Given the description of an element on the screen output the (x, y) to click on. 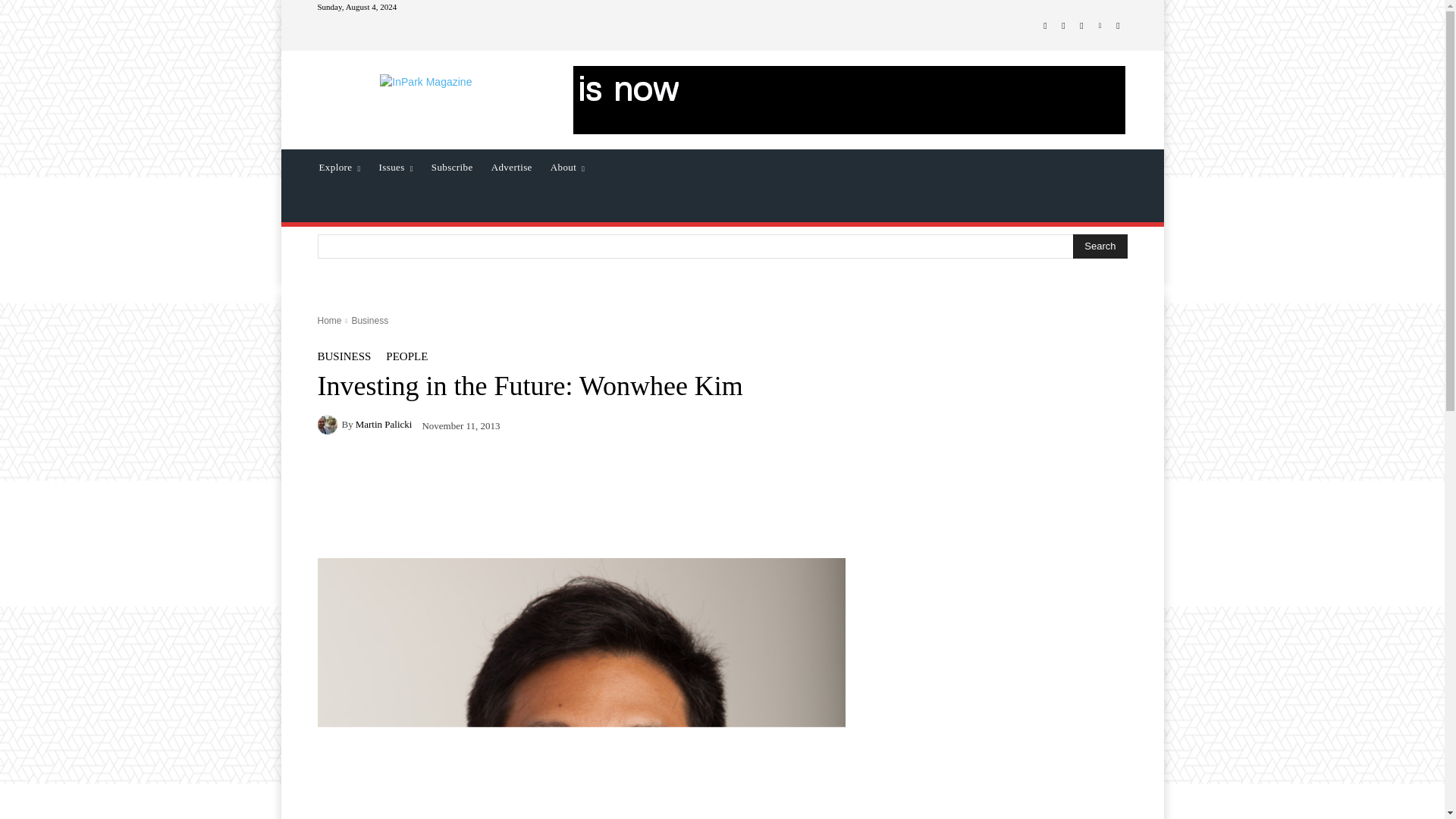
Twitter (1080, 25)
Facebook (1044, 25)
Vimeo (1099, 25)
Youtube (1117, 25)
Instagram (1062, 25)
